Given the description of an element on the screen output the (x, y) to click on. 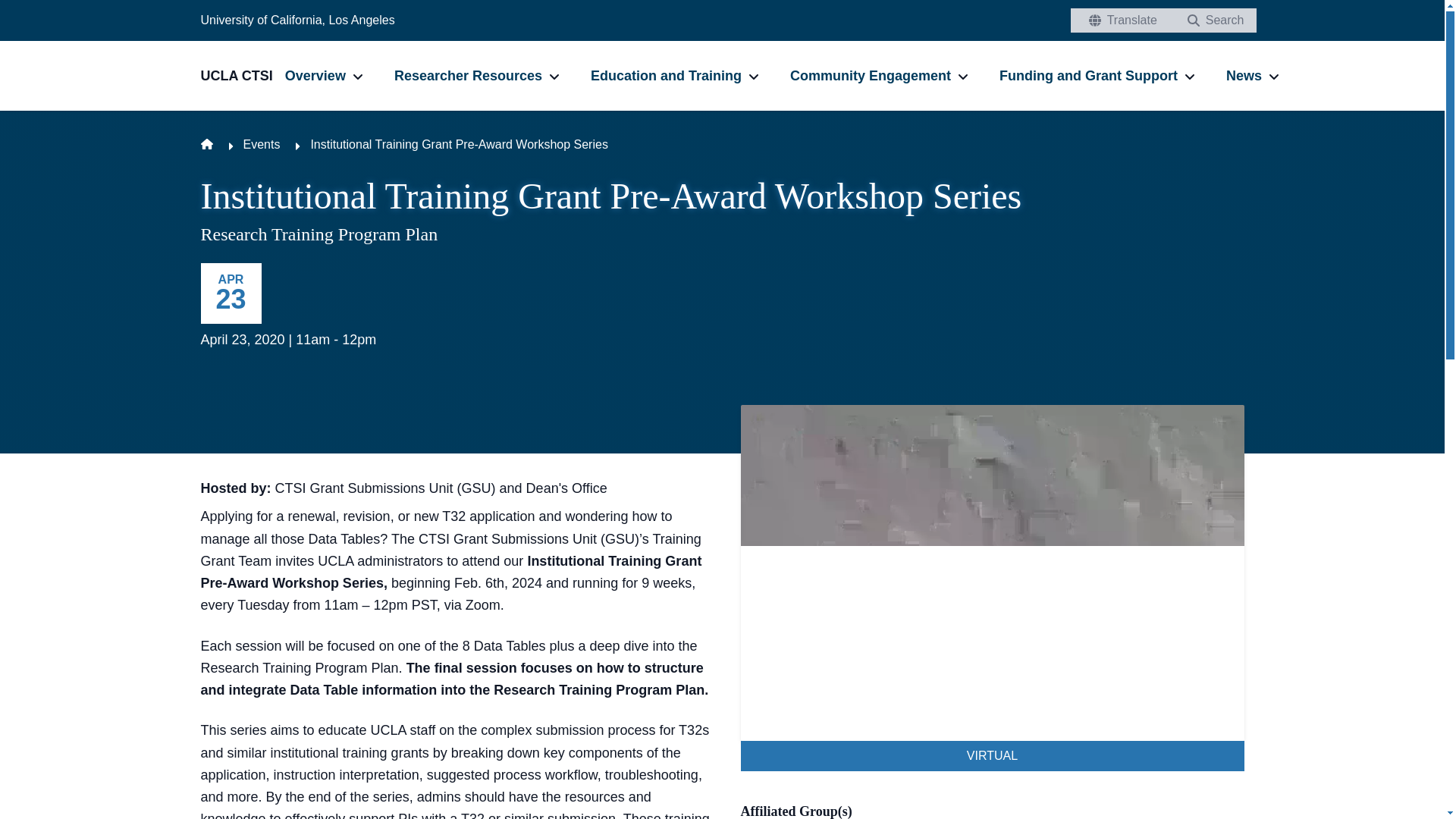
Translate (1119, 20)
Overview sub-navigation (357, 75)
University of California, Los Angeles (296, 20)
UCLA CTSI (241, 75)
Search (1212, 20)
